Given the description of an element on the screen output the (x, y) to click on. 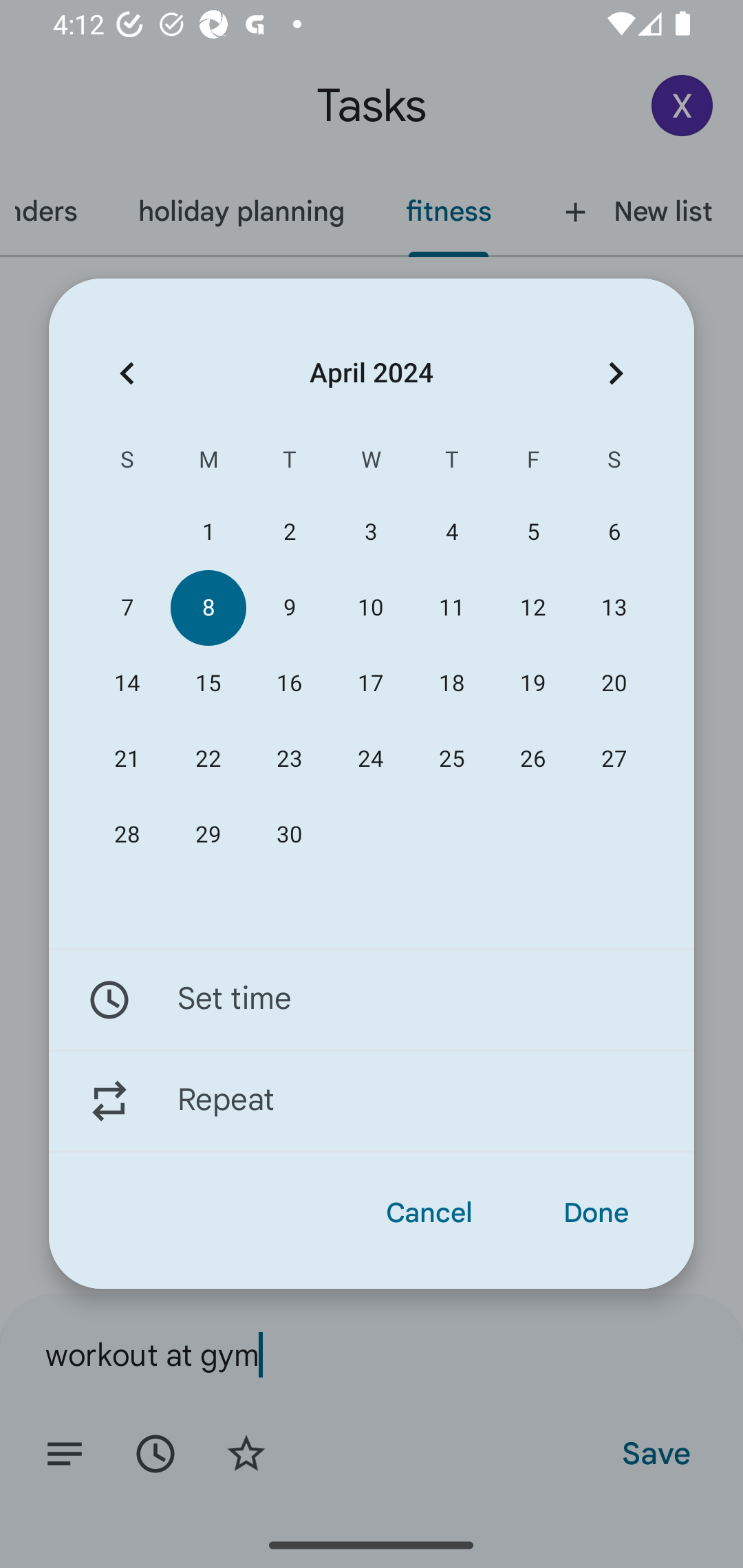
Previous month (126, 372)
Next month (615, 372)
1 01 April 2024 (207, 531)
2 02 April 2024 (288, 531)
3 03 April 2024 (370, 531)
4 04 April 2024 (451, 531)
5 05 April 2024 (532, 531)
6 06 April 2024 (613, 531)
7 07 April 2024 (126, 608)
8 08 April 2024 (207, 608)
9 09 April 2024 (288, 608)
10 10 April 2024 (370, 608)
11 11 April 2024 (451, 608)
12 12 April 2024 (532, 608)
13 13 April 2024 (613, 608)
14 14 April 2024 (126, 683)
15 15 April 2024 (207, 683)
16 16 April 2024 (288, 683)
17 17 April 2024 (370, 683)
18 18 April 2024 (451, 683)
19 19 April 2024 (532, 683)
20 20 April 2024 (613, 683)
21 21 April 2024 (126, 758)
22 22 April 2024 (207, 758)
23 23 April 2024 (288, 758)
24 24 April 2024 (370, 758)
25 25 April 2024 (451, 758)
26 26 April 2024 (532, 758)
27 27 April 2024 (613, 758)
28 28 April 2024 (126, 834)
29 29 April 2024 (207, 834)
30 30 April 2024 (288, 834)
Set time (371, 999)
Repeat (371, 1101)
Cancel (429, 1213)
Done (595, 1213)
